Given the description of an element on the screen output the (x, y) to click on. 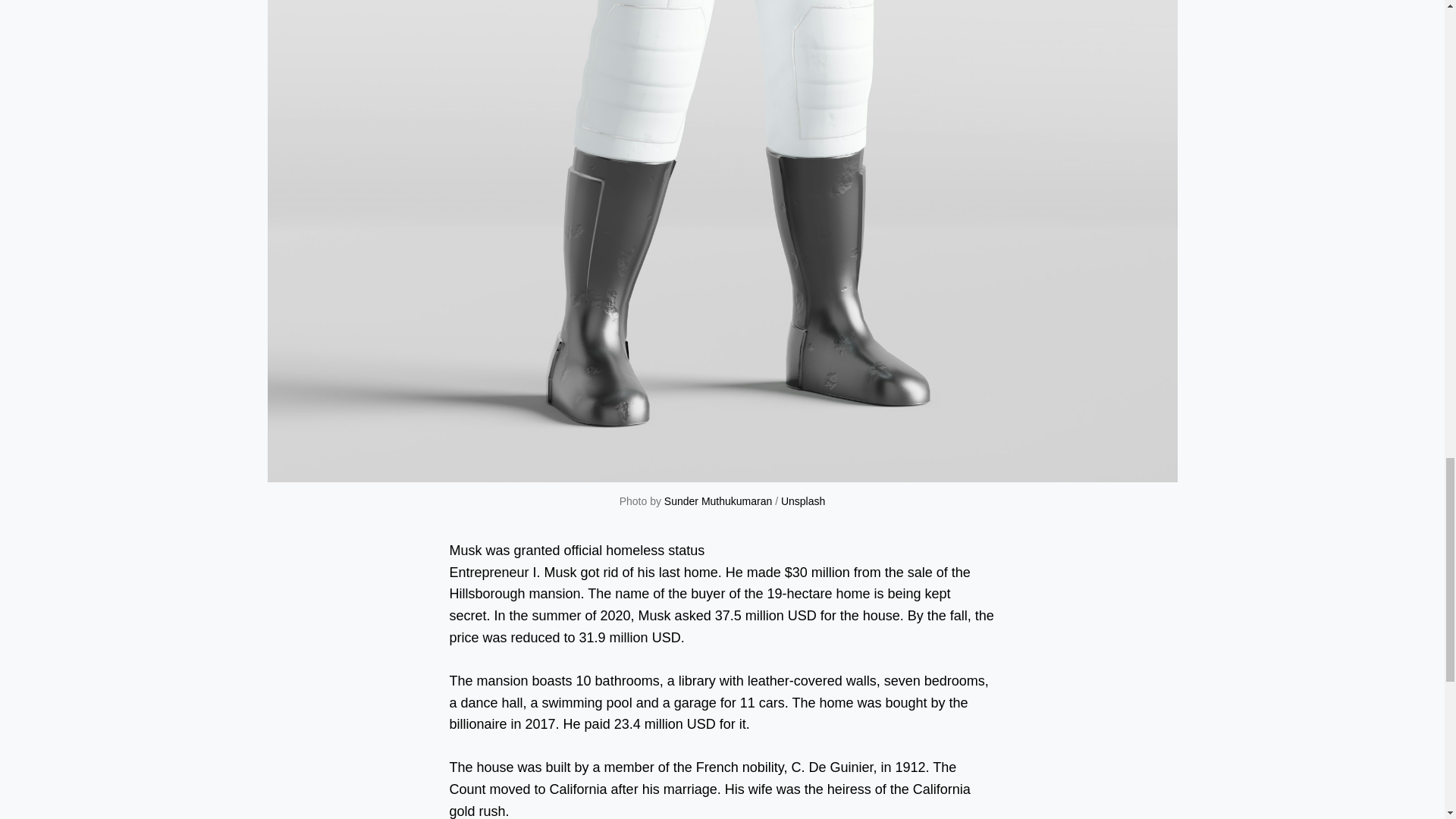
Sunder Muthukumaran (717, 500)
Unsplash (802, 500)
